Given the description of an element on the screen output the (x, y) to click on. 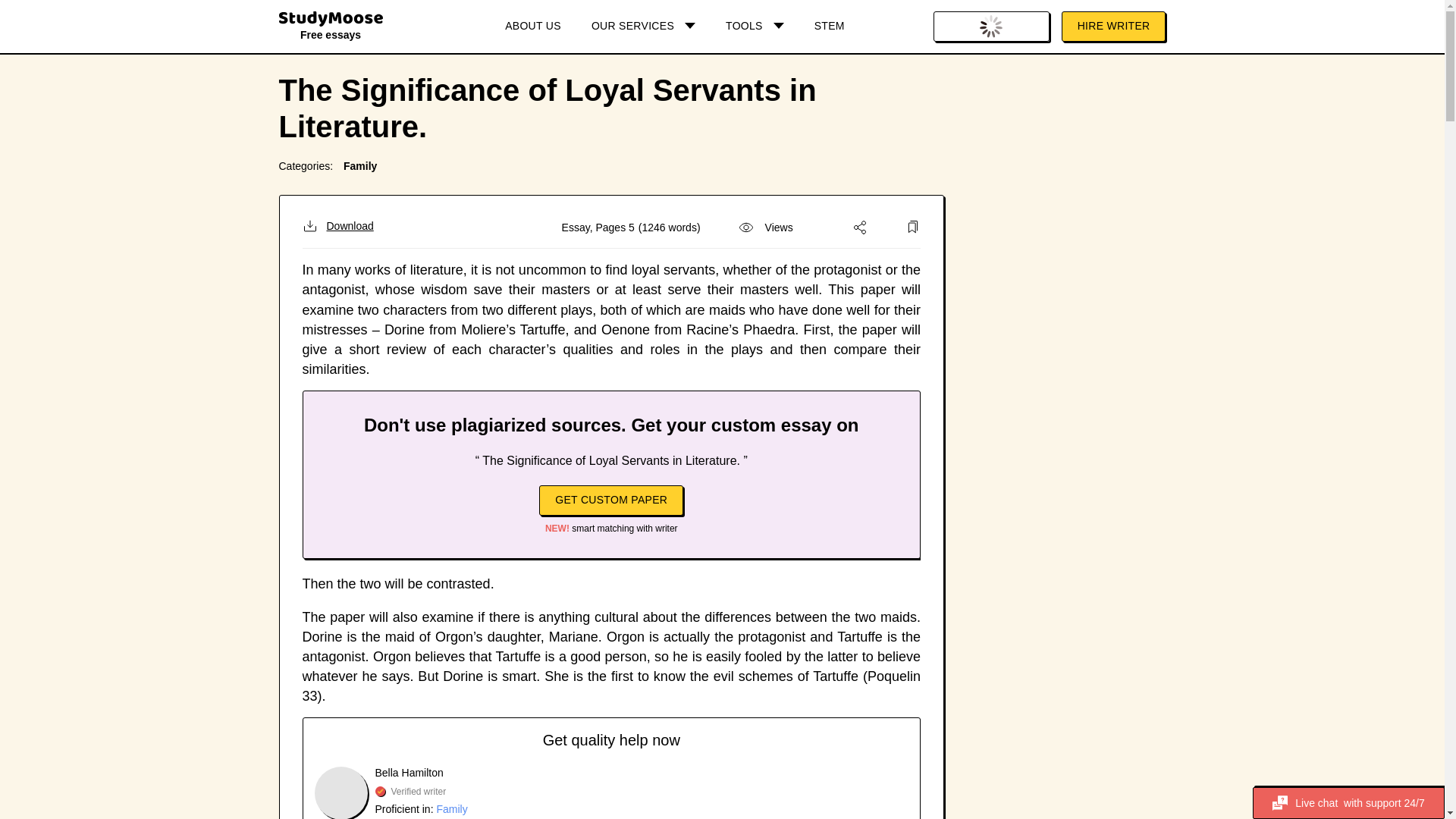
Download (336, 225)
TOOLS (754, 26)
Family (451, 808)
GET CUSTOM PAPER (610, 500)
STEM (829, 26)
HIRE WRITER (1113, 26)
Family (360, 165)
OUR SERVICES (643, 26)
Free essays (330, 29)
ABOUT US (532, 26)
